Given the description of an element on the screen output the (x, y) to click on. 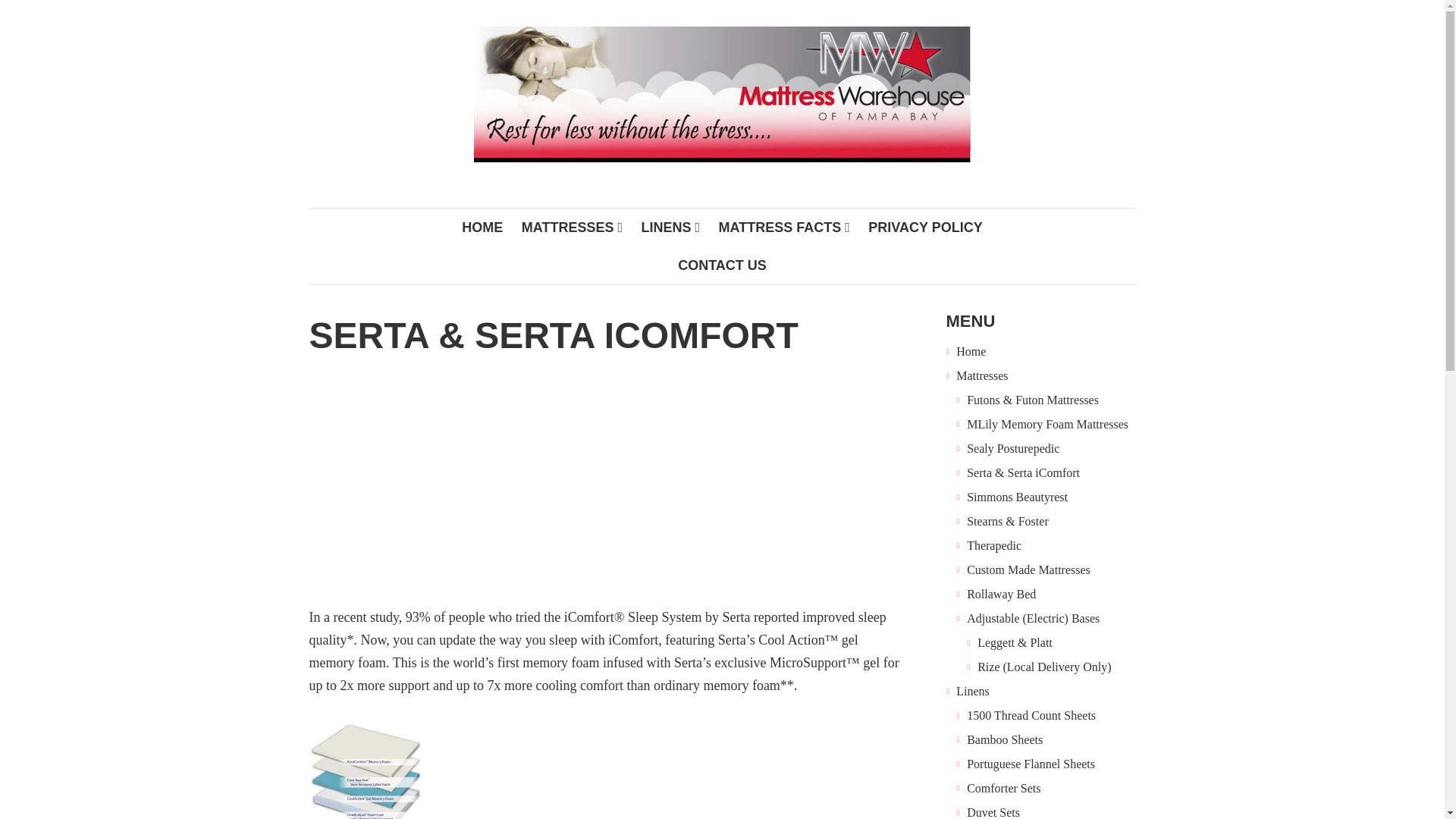
CONTACT US (721, 265)
Home (970, 350)
PRIVACY POLICY (925, 227)
MATTRESSES (571, 227)
MATTRESS FACTS (784, 227)
Advertisement (605, 491)
Mattresses (981, 374)
LINENS (670, 227)
HOME (482, 227)
